Given the description of an element on the screen output the (x, y) to click on. 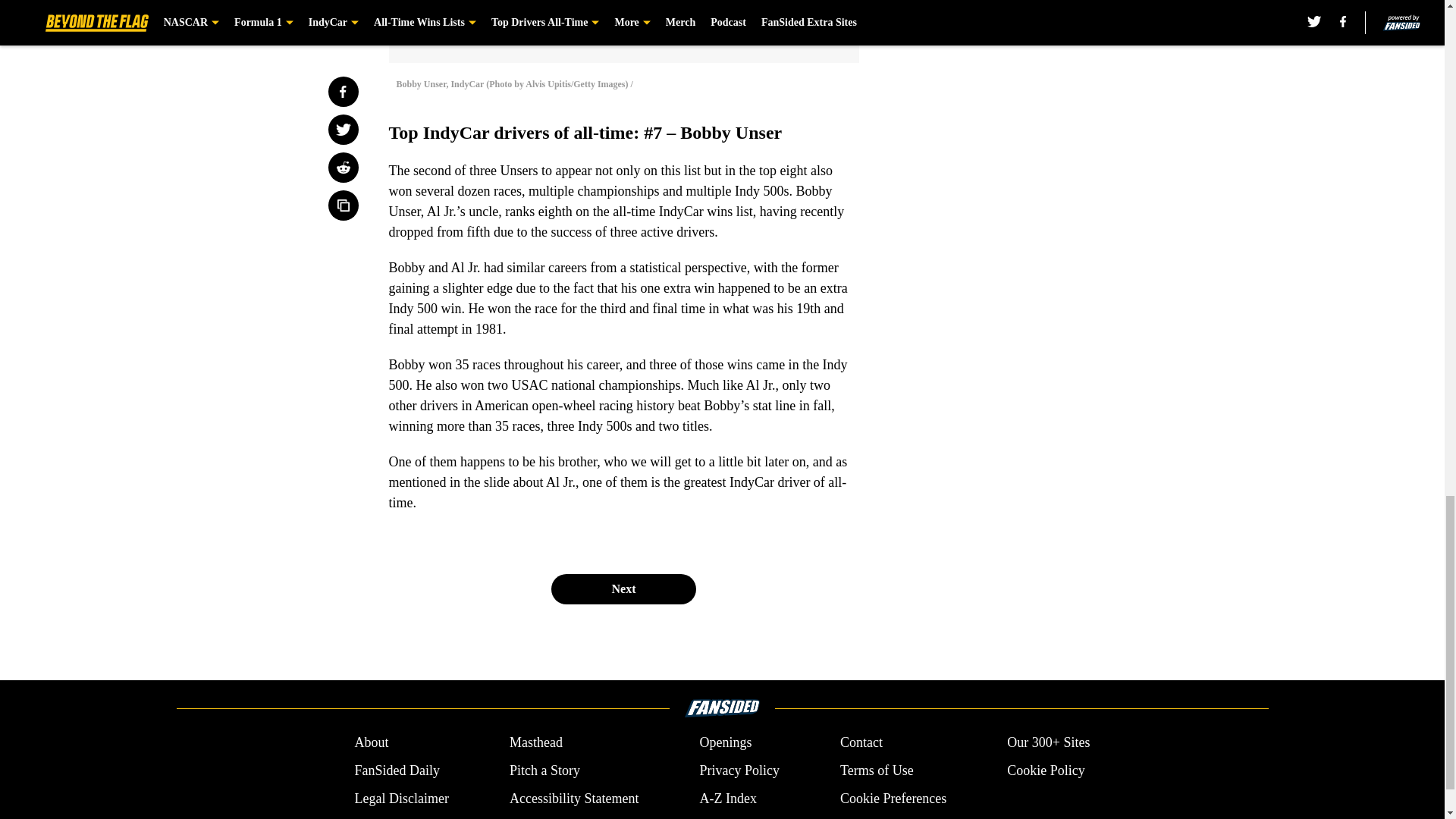
Next (622, 589)
